Given the description of an element on the screen output the (x, y) to click on. 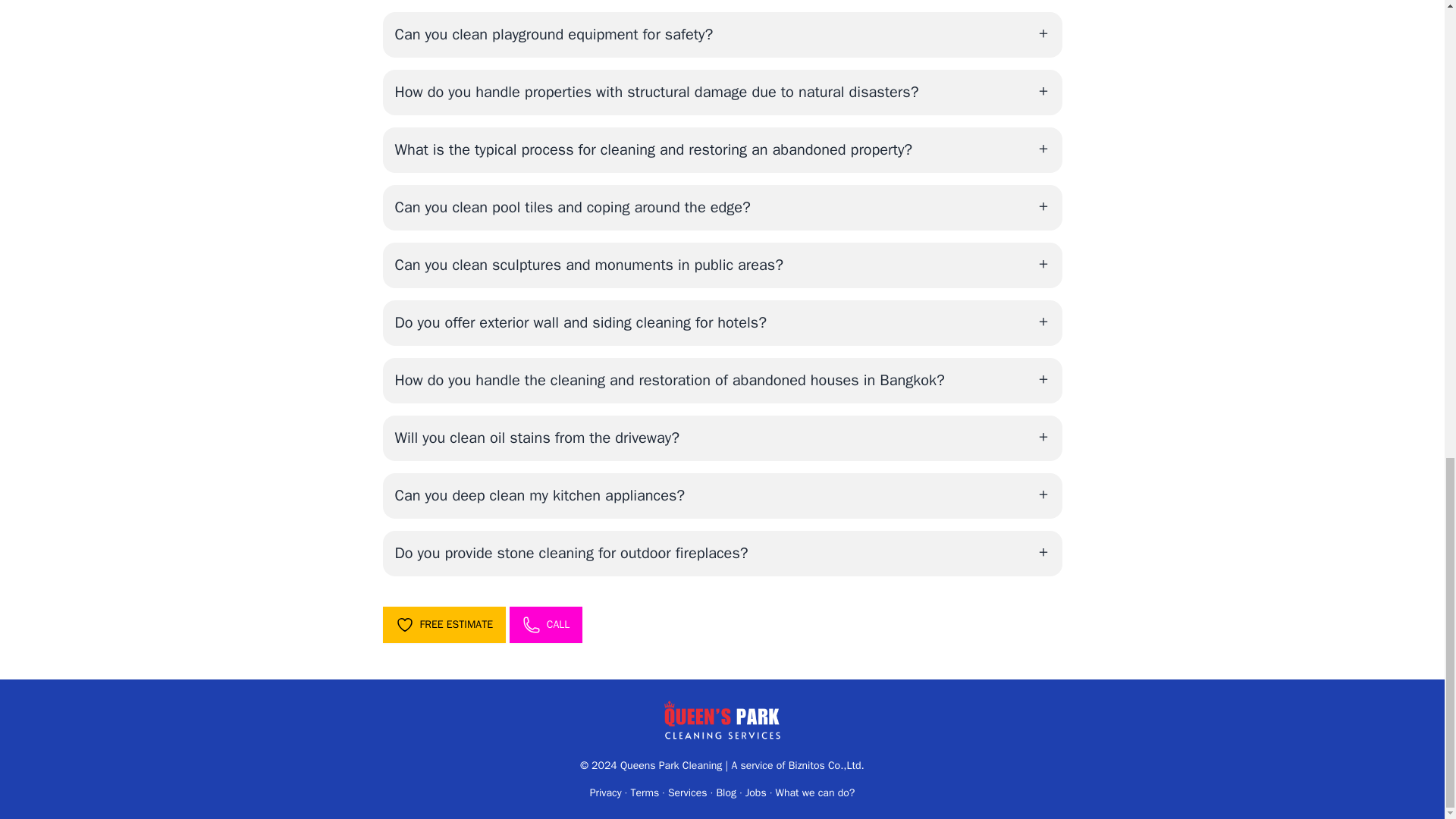
Jobs (756, 792)
Services (687, 792)
FREE ESTIMATE (443, 624)
Terms (644, 792)
What we can do? (814, 792)
Privacy (605, 792)
CALL (546, 624)
Blog (726, 792)
